Given the description of an element on the screen output the (x, y) to click on. 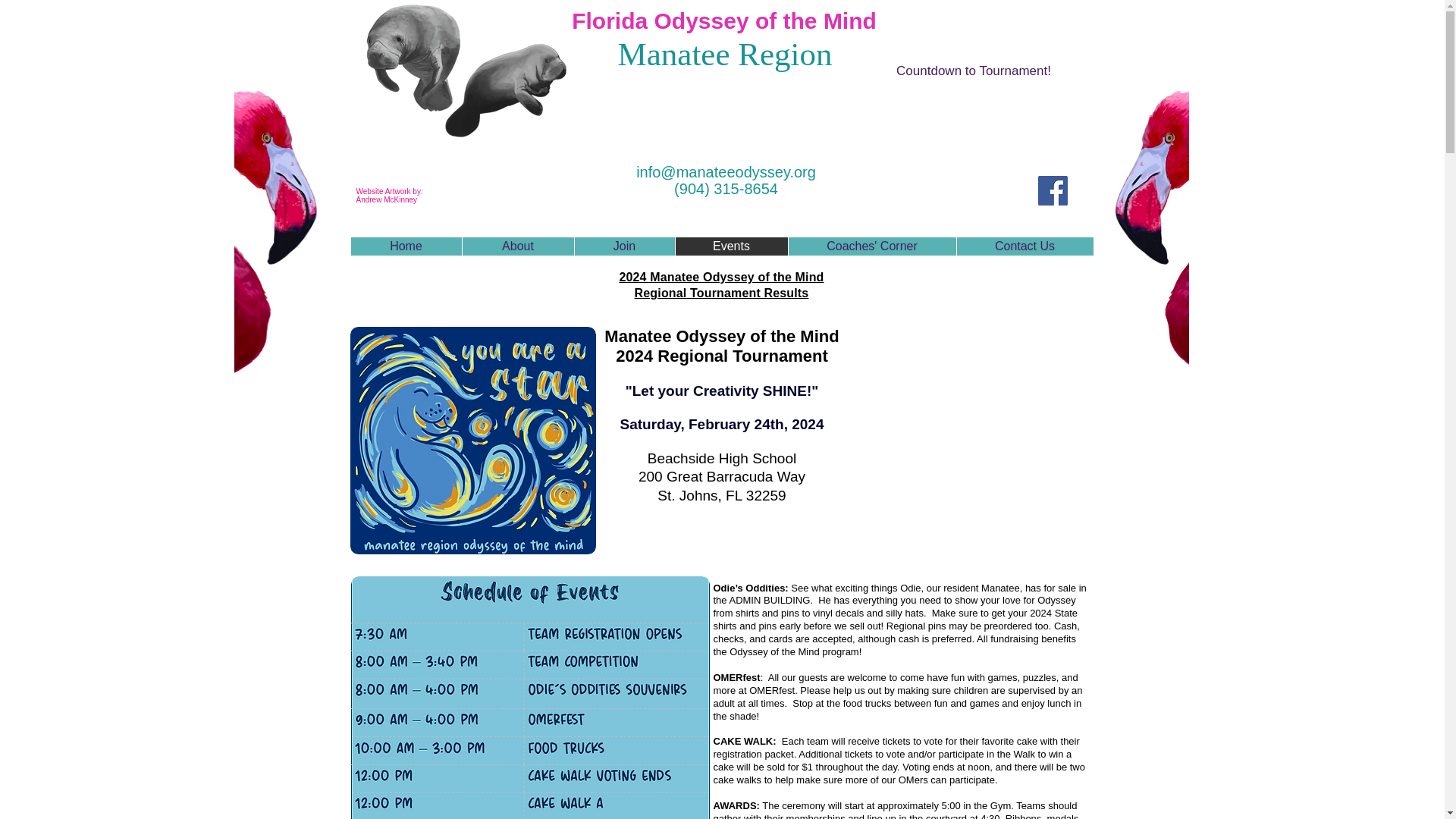
Events (731, 246)
Contact Us (1024, 246)
About (517, 246)
Coaches' Corner (871, 246)
2024 Manatee Odyssey of the Mind Regional Tournament Results (721, 285)
Home (405, 246)
Join (623, 246)
